Given the description of an element on the screen output the (x, y) to click on. 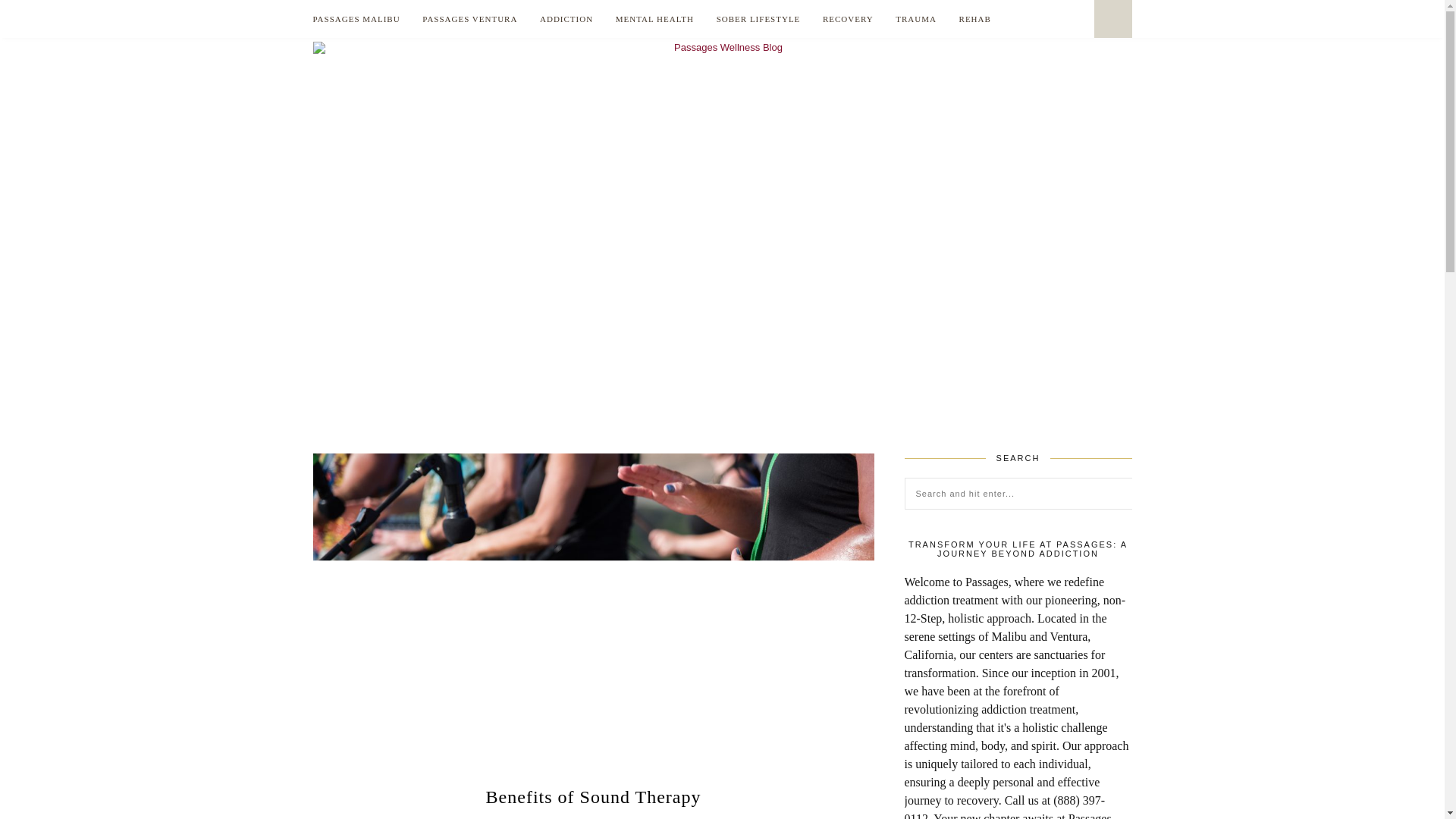
SOBER LIFESTYLE (758, 18)
TRAUMA (915, 18)
RECOVERY (847, 18)
PASSAGES VENTURA (469, 18)
REHAB (975, 18)
ADDICTION (566, 18)
PASSAGES MALIBU (355, 18)
MENTAL HEALTH (654, 18)
